Given the description of an element on the screen output the (x, y) to click on. 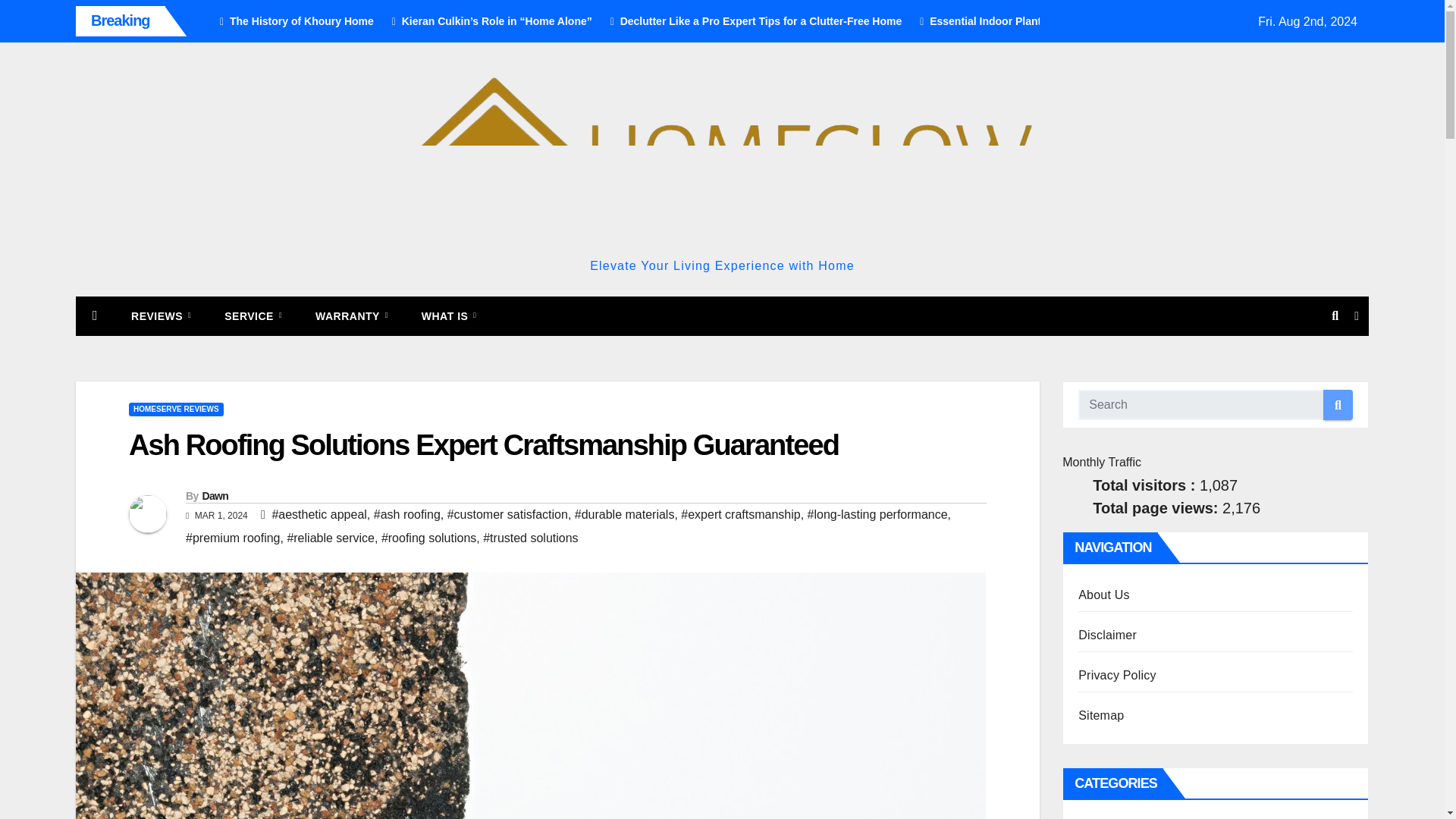
REVIEWS (161, 315)
Declutter Like a Pro Expert Tips for a Clutter-Free Home (750, 21)
Reviews (161, 315)
Ash Roofing Solutions Expert Craftsmanship Guaranteed (483, 445)
Service (253, 315)
WHAT IS (448, 315)
HOMESERVE REVIEWS (176, 409)
WARRANTY (351, 315)
SERVICE (253, 315)
Essential Indoor Plant Care Tips for Healthy Greenery (1054, 21)
